Given the description of an element on the screen output the (x, y) to click on. 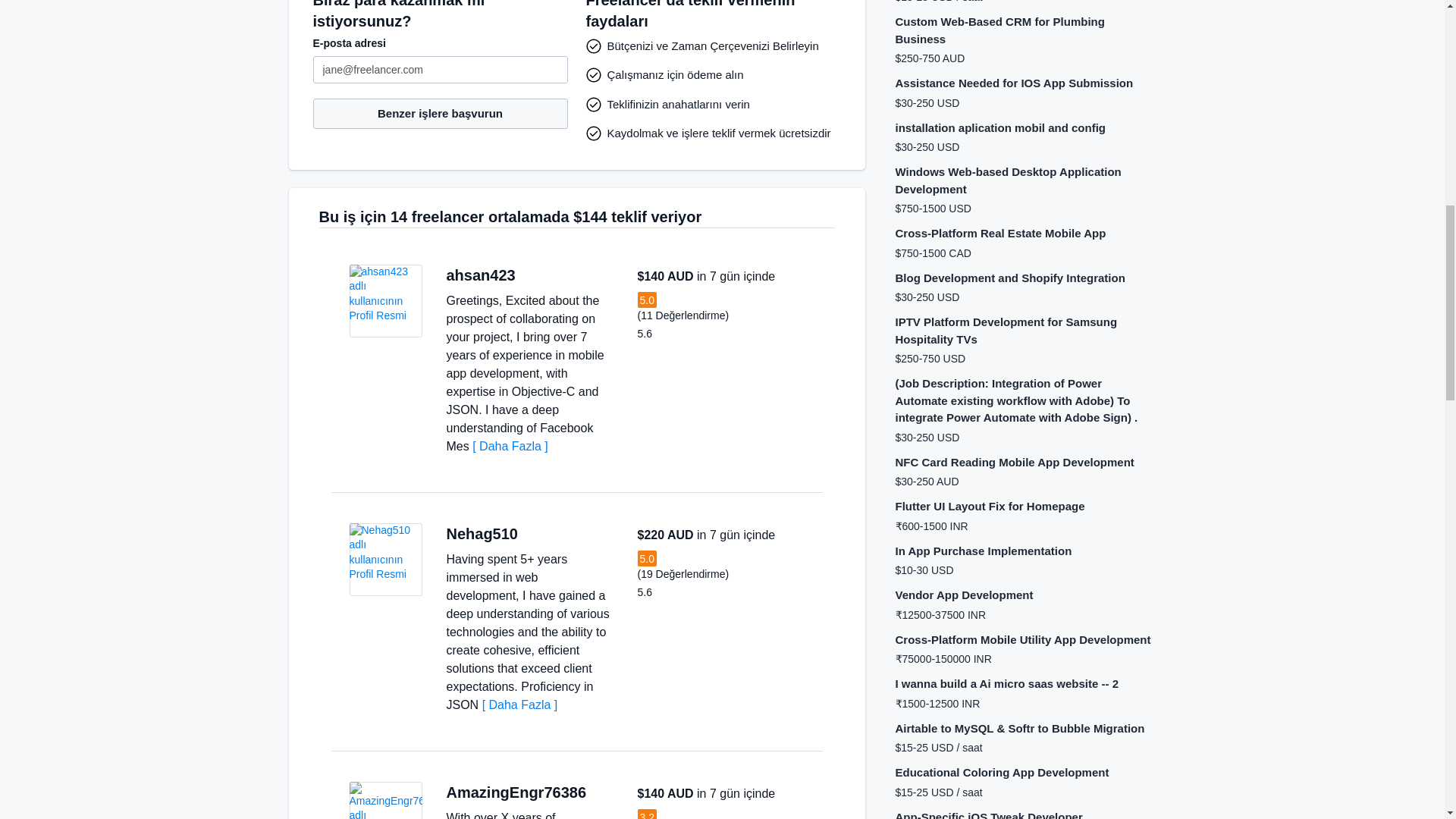
Daha Fazla (519, 704)
India (533, 533)
Nehag510 (481, 533)
Pakistan (531, 275)
ahsan423 (480, 274)
Daha Fazla (509, 445)
AmazingEngr76386 (515, 791)
Pakistan (601, 792)
